Given the description of an element on the screen output the (x, y) to click on. 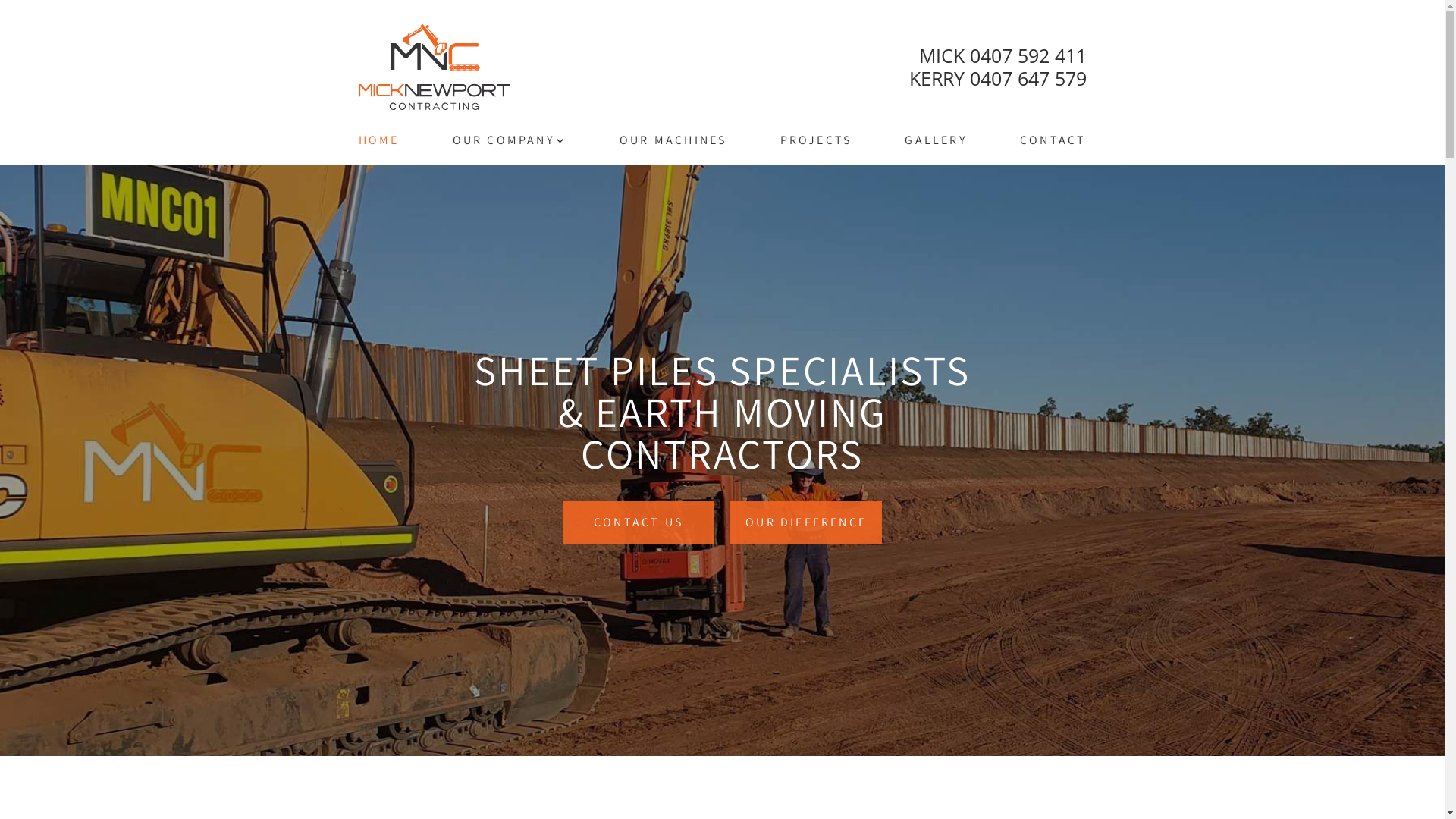
OUR COMPANY Element type: text (509, 140)
KERRY 0407 647 579 Element type: text (996, 78)
CONTACT US Element type: text (638, 522)
PROJECTS Element type: text (816, 140)
MICK 0407 592 411 Element type: text (996, 55)
CONTACT Element type: text (1052, 140)
HOME Element type: text (377, 140)
OUR MACHINES Element type: text (672, 140)
GALLERY Element type: text (935, 140)
OUR DIFFERENCE Element type: text (805, 522)
